Given the description of an element on the screen output the (x, y) to click on. 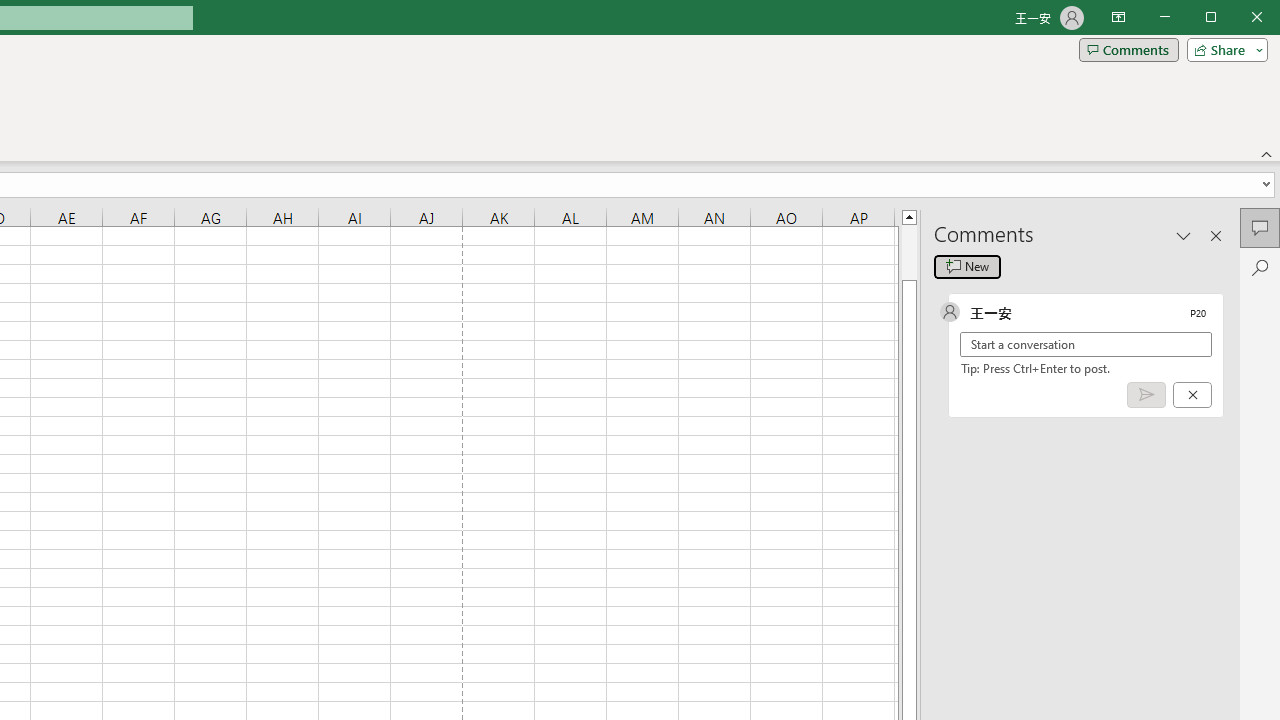
New comment (967, 266)
Cancel (1192, 395)
Maximize (1239, 18)
Start a conversation (1085, 344)
Post comment (Ctrl + Enter) (1146, 395)
Search (1260, 267)
